Given the description of an element on the screen output the (x, y) to click on. 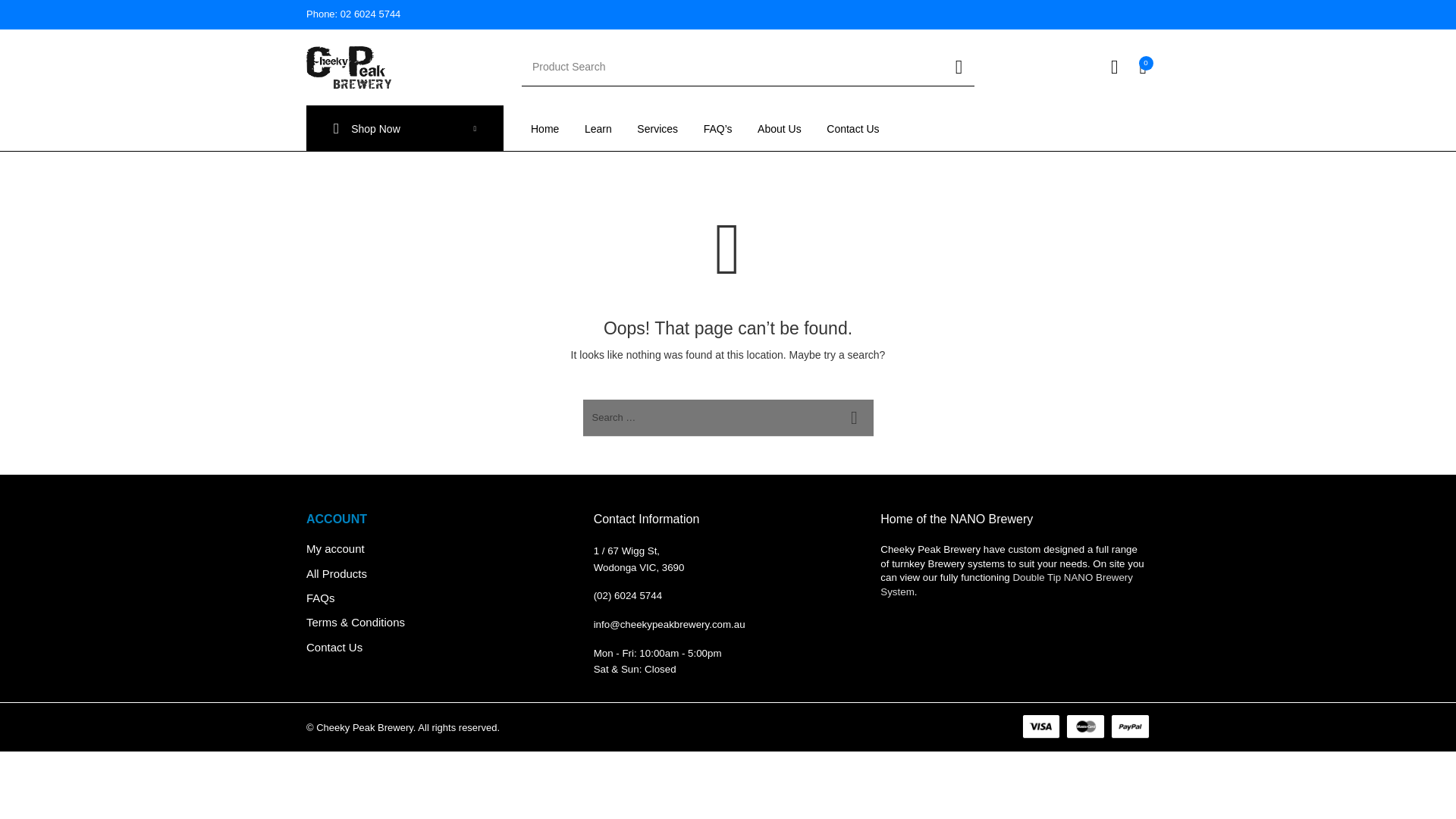
Learn (598, 128)
Shop Now (404, 128)
MasterCard (1082, 726)
Home (545, 128)
Cheeky Peak Brewery (348, 66)
PayPal (1127, 726)
Contact Us (852, 128)
About Us (778, 128)
Services (657, 128)
0 (1143, 67)
Visa (1038, 726)
